Given the description of an element on the screen output the (x, y) to click on. 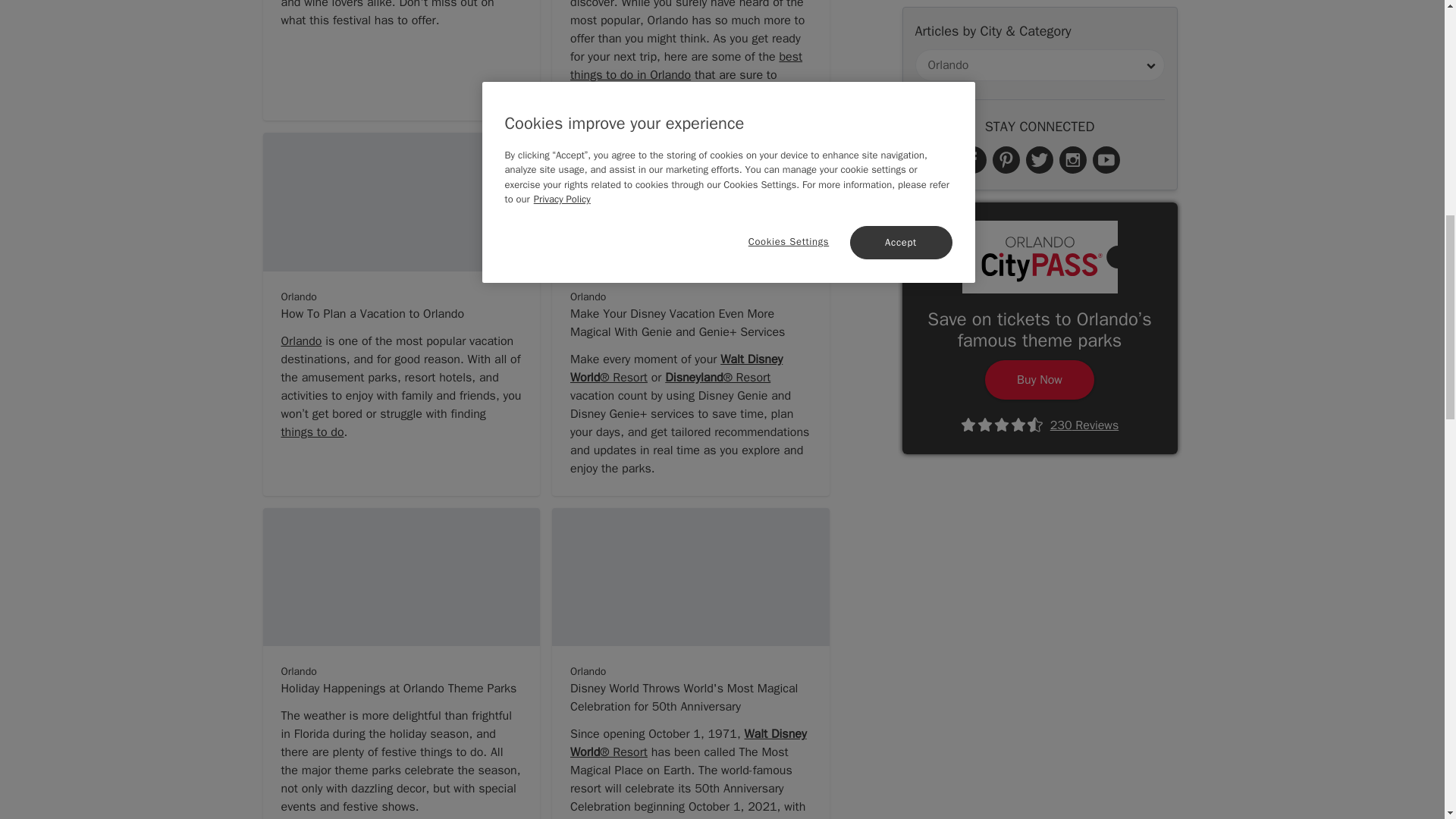
Orlando (301, 340)
things to do (312, 432)
best things to do in Orlando (686, 65)
Holiday Happenings at Orlando Theme Parks (401, 692)
Buy Now (1039, 18)
Orlando CityPASS Reviews (1039, 60)
230 Reviews (1039, 60)
Buy Now (1039, 18)
How To Plan a Vacation to Orlando (401, 318)
